Given the description of an element on the screen output the (x, y) to click on. 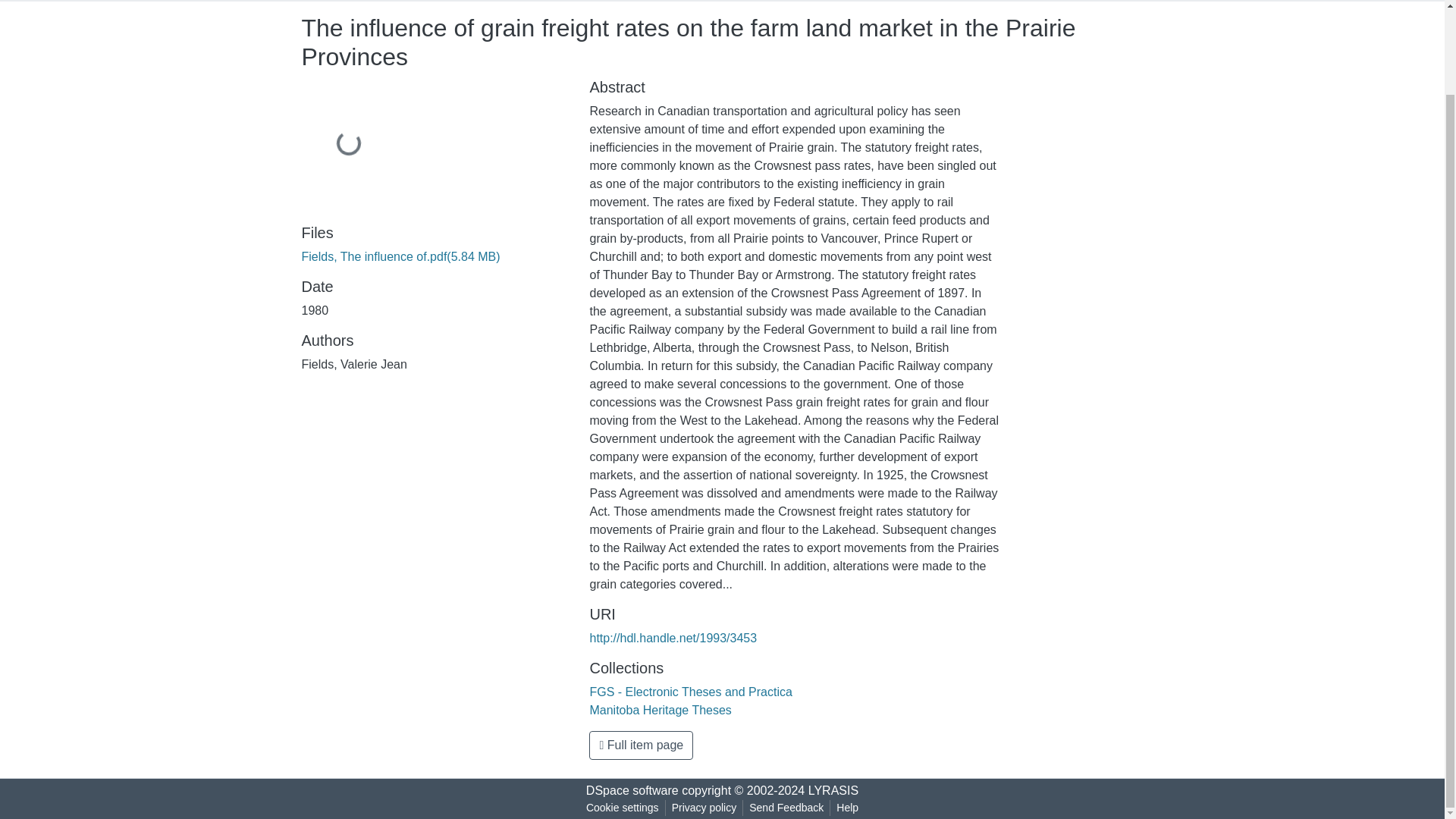
Manitoba Heritage Theses (659, 709)
Privacy policy (703, 807)
DSpace software (632, 789)
FGS - Electronic Theses and Practica (690, 691)
Full item page (641, 745)
Help (846, 807)
Send Feedback (785, 807)
LYRASIS (833, 789)
Cookie settings (622, 807)
